Given the description of an element on the screen output the (x, y) to click on. 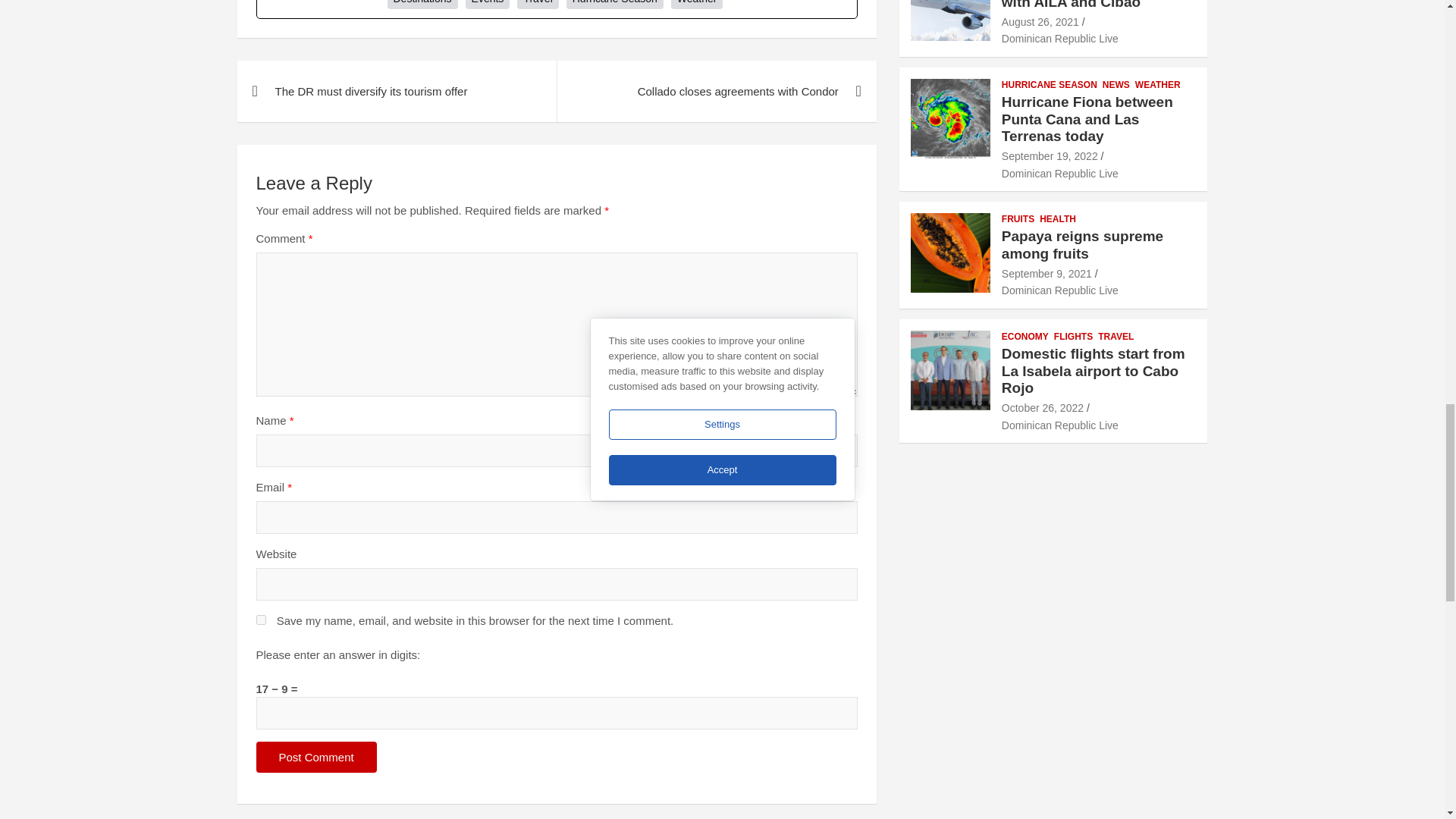
yes (261, 619)
Post Comment (316, 757)
Sky Cana to link New York with AILA and Cibao (1039, 21)
Hurricane Fiona between Punta Cana and Las Terrenas today (1049, 155)
Post Comment (316, 757)
The DR must diversify its tourism offer (395, 91)
Papaya reigns supreme among fruits (1046, 273)
Domestic flights start from La Isabela airport to Cabo Rojo (1042, 408)
Collado closes agreements with Condor (716, 91)
